Given the description of an element on the screen output the (x, y) to click on. 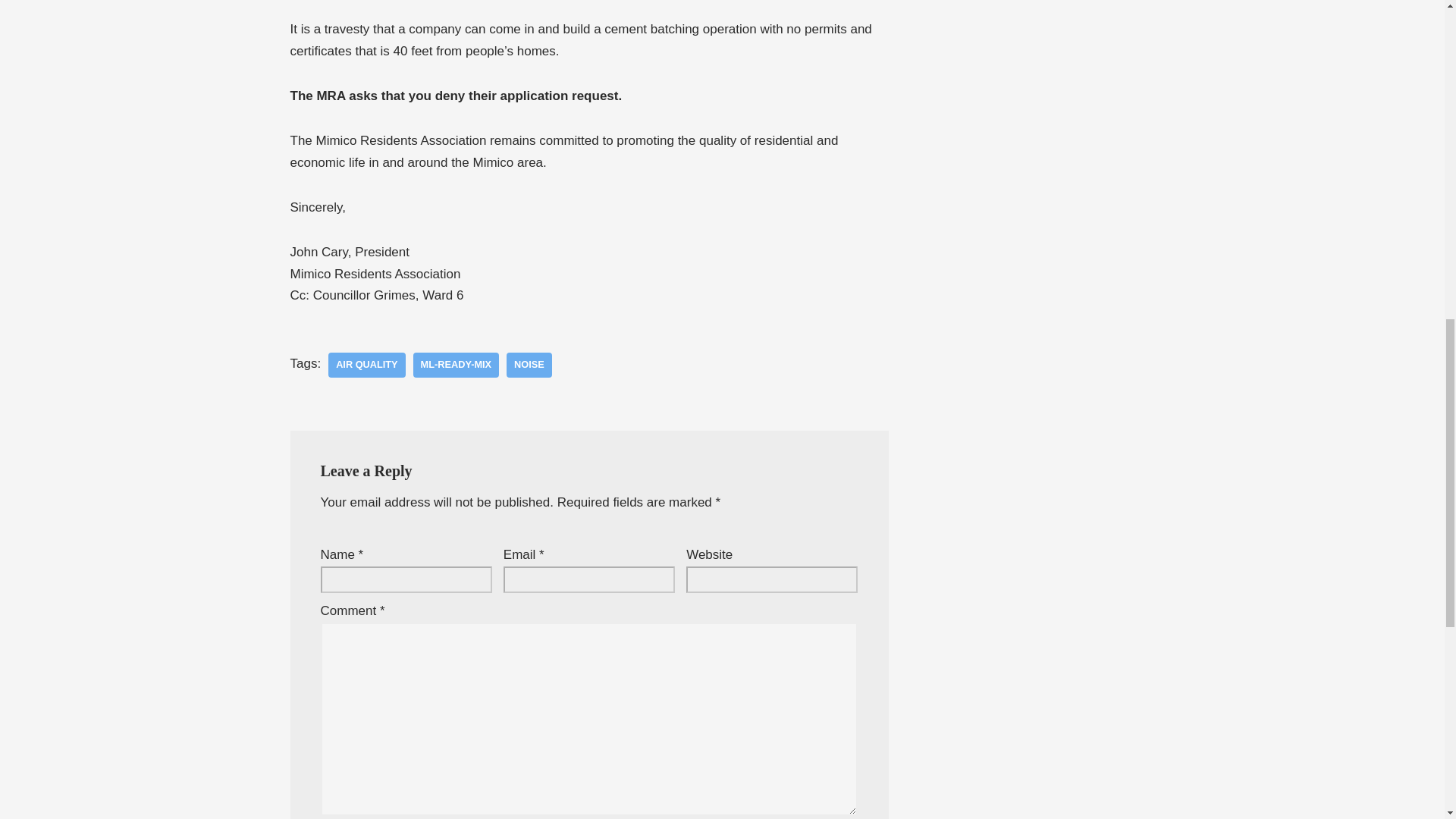
air quality (366, 364)
noise (528, 364)
ML-Ready-Mix (456, 364)
